Given the description of an element on the screen output the (x, y) to click on. 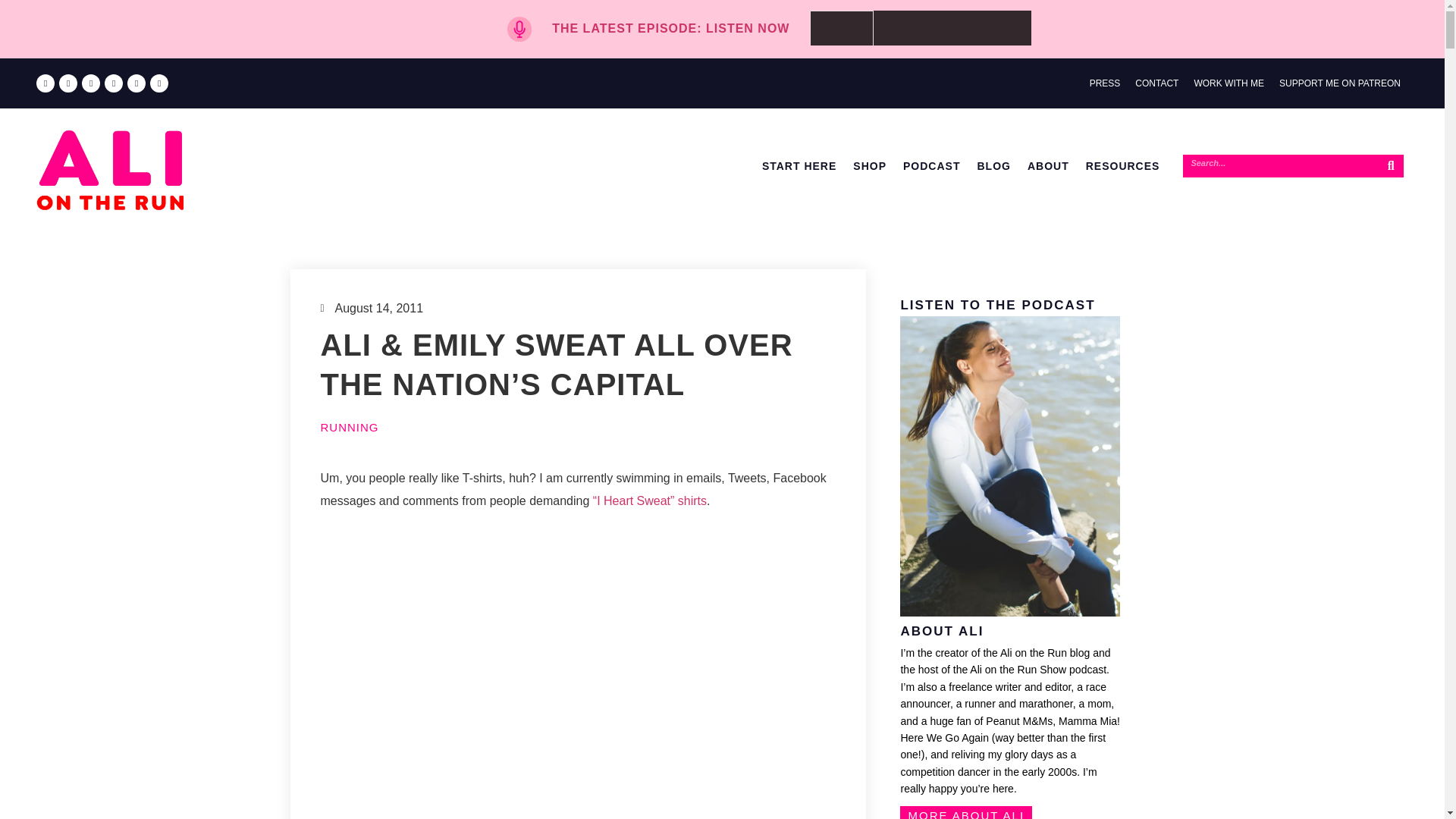
ABOUT (1048, 165)
RUNNING (349, 427)
PRESS (1104, 83)
RESOURCES (1123, 165)
SHOP (869, 165)
THE LATEST EPISODE: LISTEN NOW (670, 28)
PODCAST (931, 165)
BLOG (992, 165)
CONTACT (1156, 83)
WORK WITH ME (1228, 83)
SUPPORT ME ON PATREON (1339, 83)
START HERE (799, 165)
